Given the description of an element on the screen output the (x, y) to click on. 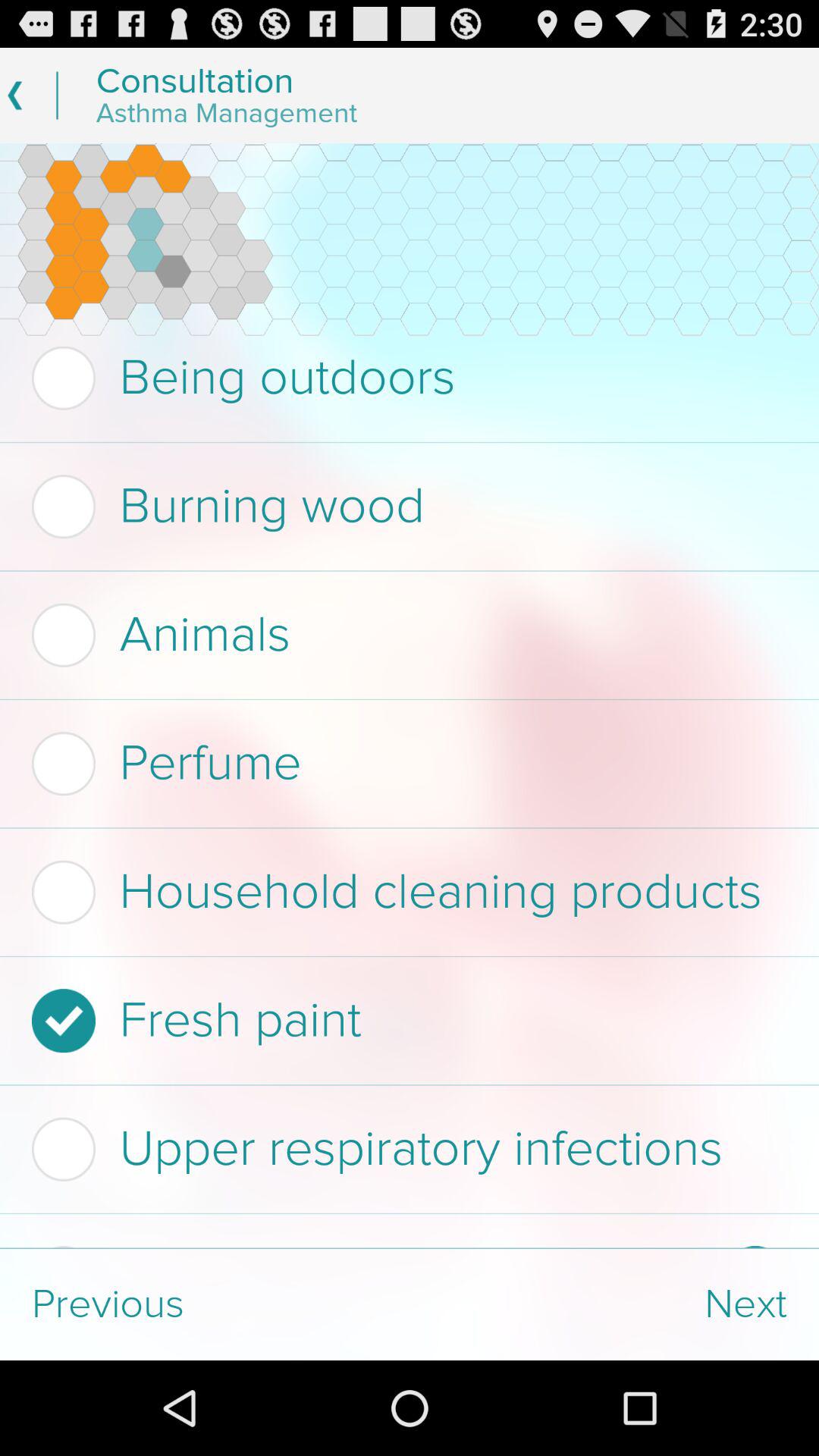
jump until the upper respiratory infections (405, 1149)
